Given the description of an element on the screen output the (x, y) to click on. 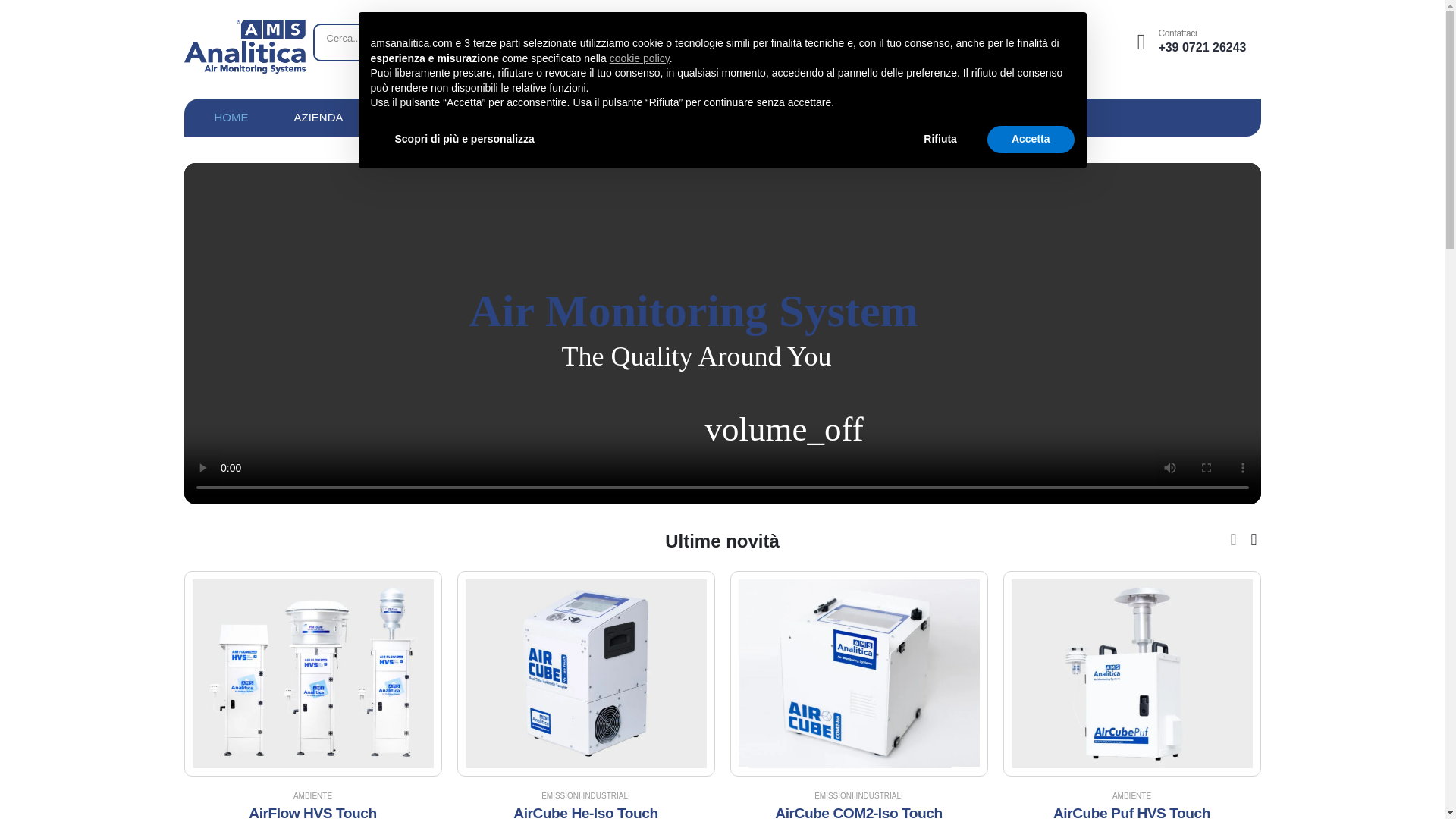
EMISSIONI INDUSTRIALI (585, 795)
Login (1189, 41)
BLOG (588, 117)
AirCube COM2-Iso Touch (858, 812)
CATALOGHI (681, 117)
CONTATTI (786, 117)
AirCube He-Iso Touch (585, 812)
AMBIENTE (312, 795)
PRODOTTI (418, 117)
EMISSIONI INDUSTRIALI (857, 795)
HOME (230, 117)
NEWS (509, 117)
AMBIENTE (1131, 795)
AirCube Puf HVS Touch (1130, 812)
AMS Analitica -  (243, 46)
